Given the description of an element on the screen output the (x, y) to click on. 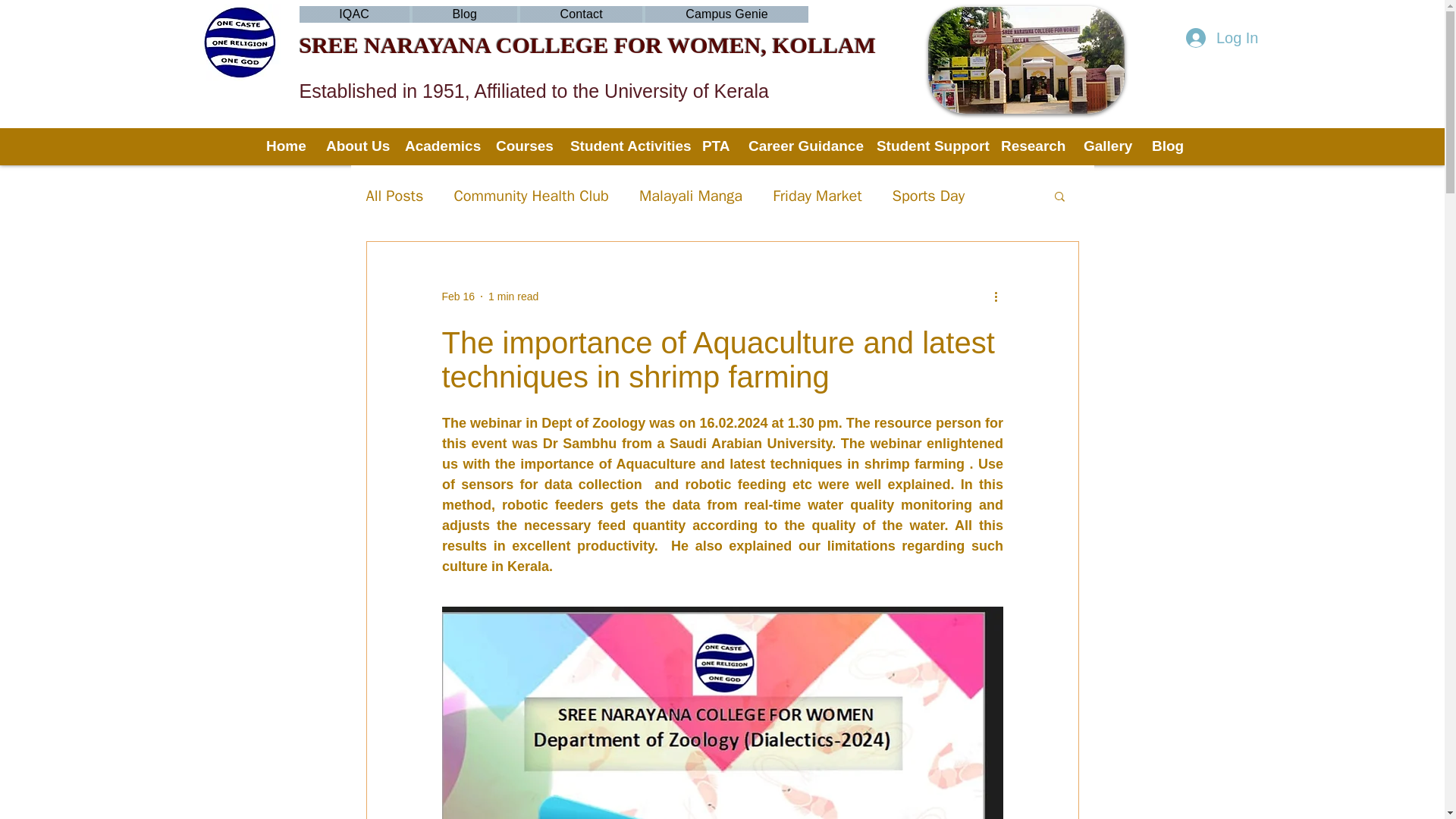
Home (283, 145)
1 min read (512, 295)
Contact (581, 13)
Blog (464, 13)
Log In (1221, 37)
Feb 16 (457, 295)
